Given the description of an element on the screen output the (x, y) to click on. 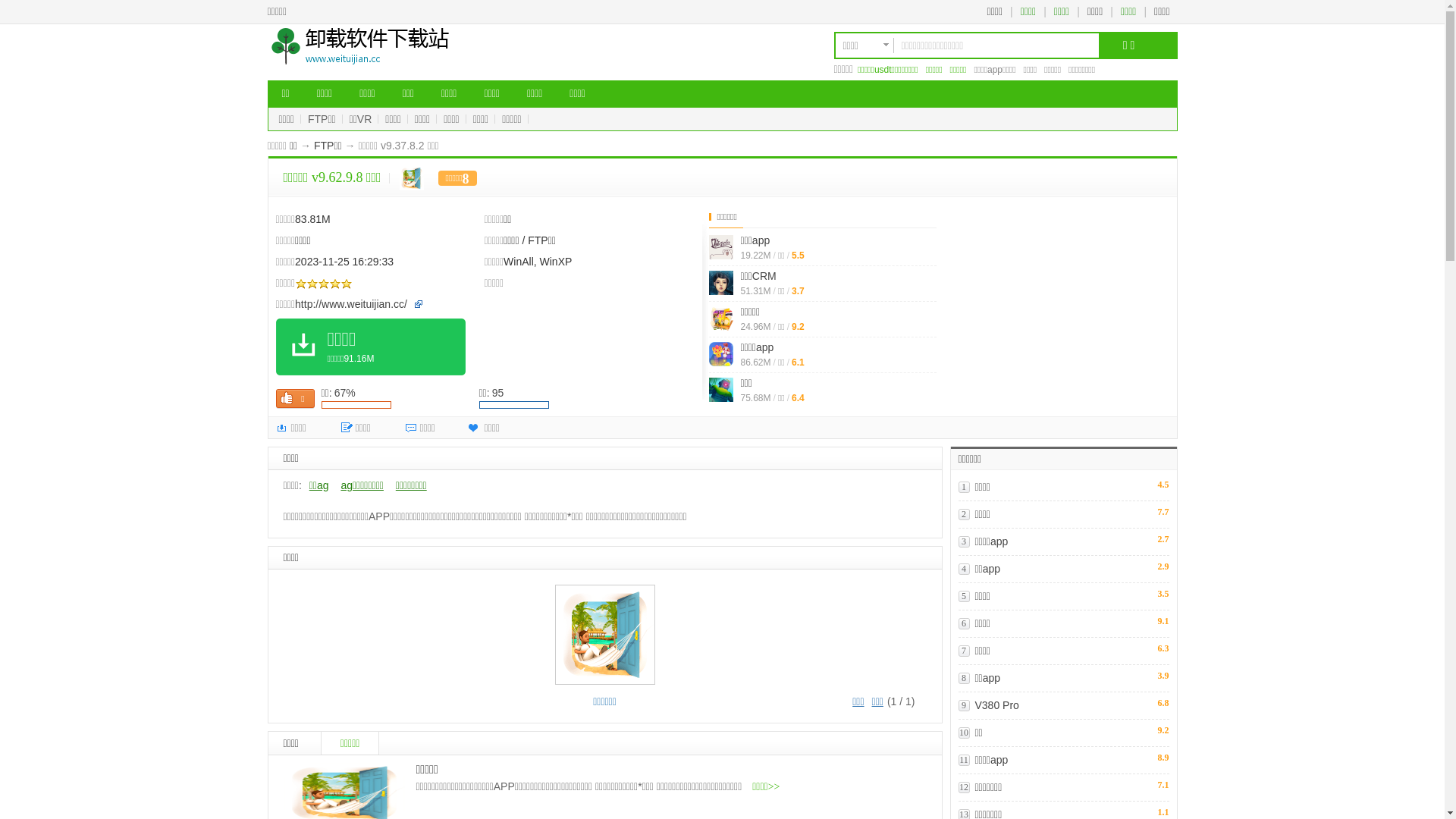
V380 Pro Element type: text (997, 705)
http://www.weituijian.cc/ Element type: text (350, 304)
